Given the description of an element on the screen output the (x, y) to click on. 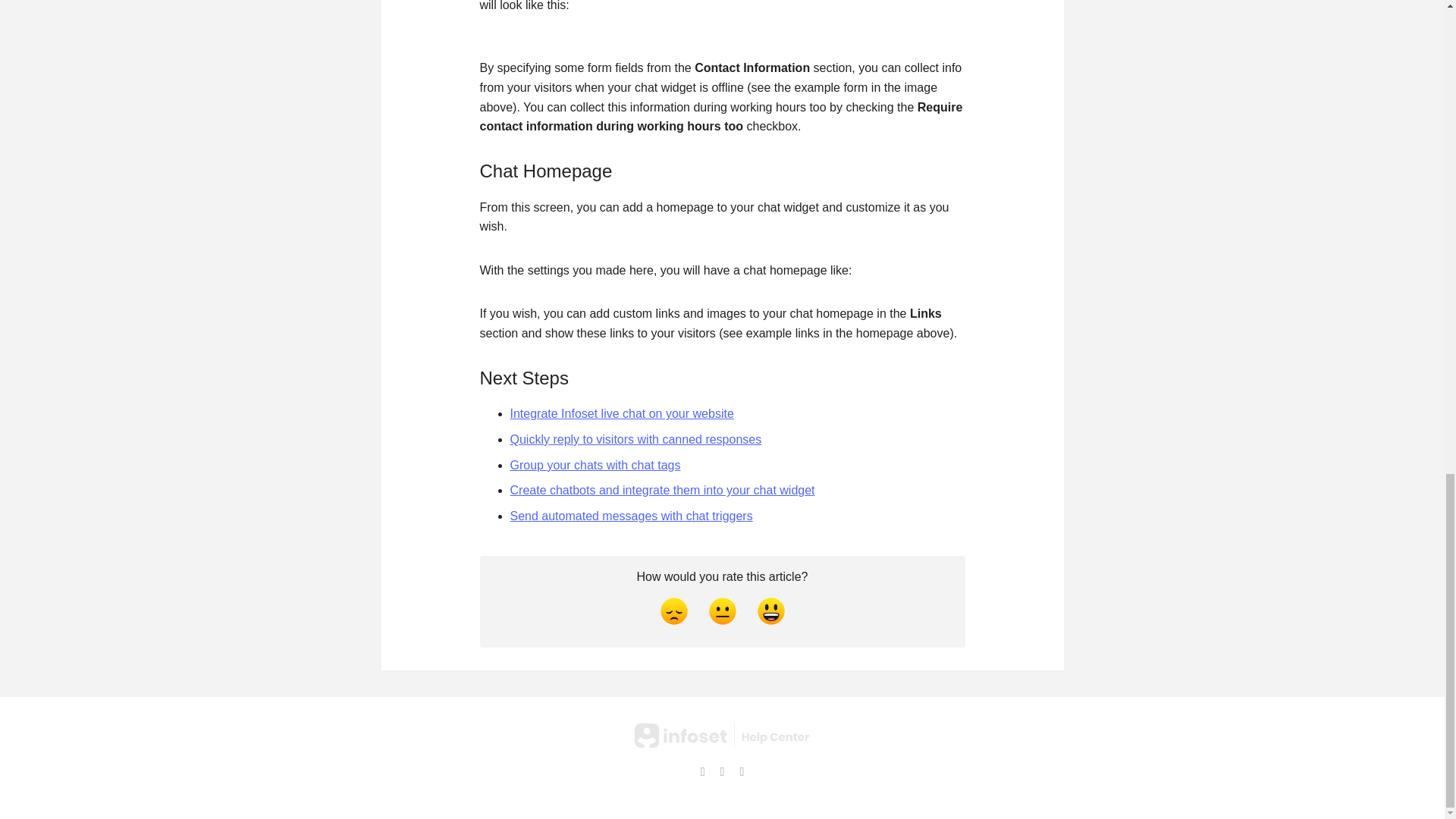
Integrate Infoset live chat on your website (621, 413)
Send automated messages with chat triggers (630, 515)
Quickly reply to visitors with canned responses (635, 439)
Group your chats with chat tags (594, 464)
Create chatbots and integrate them into your chat widget (661, 490)
